Given the description of an element on the screen output the (x, y) to click on. 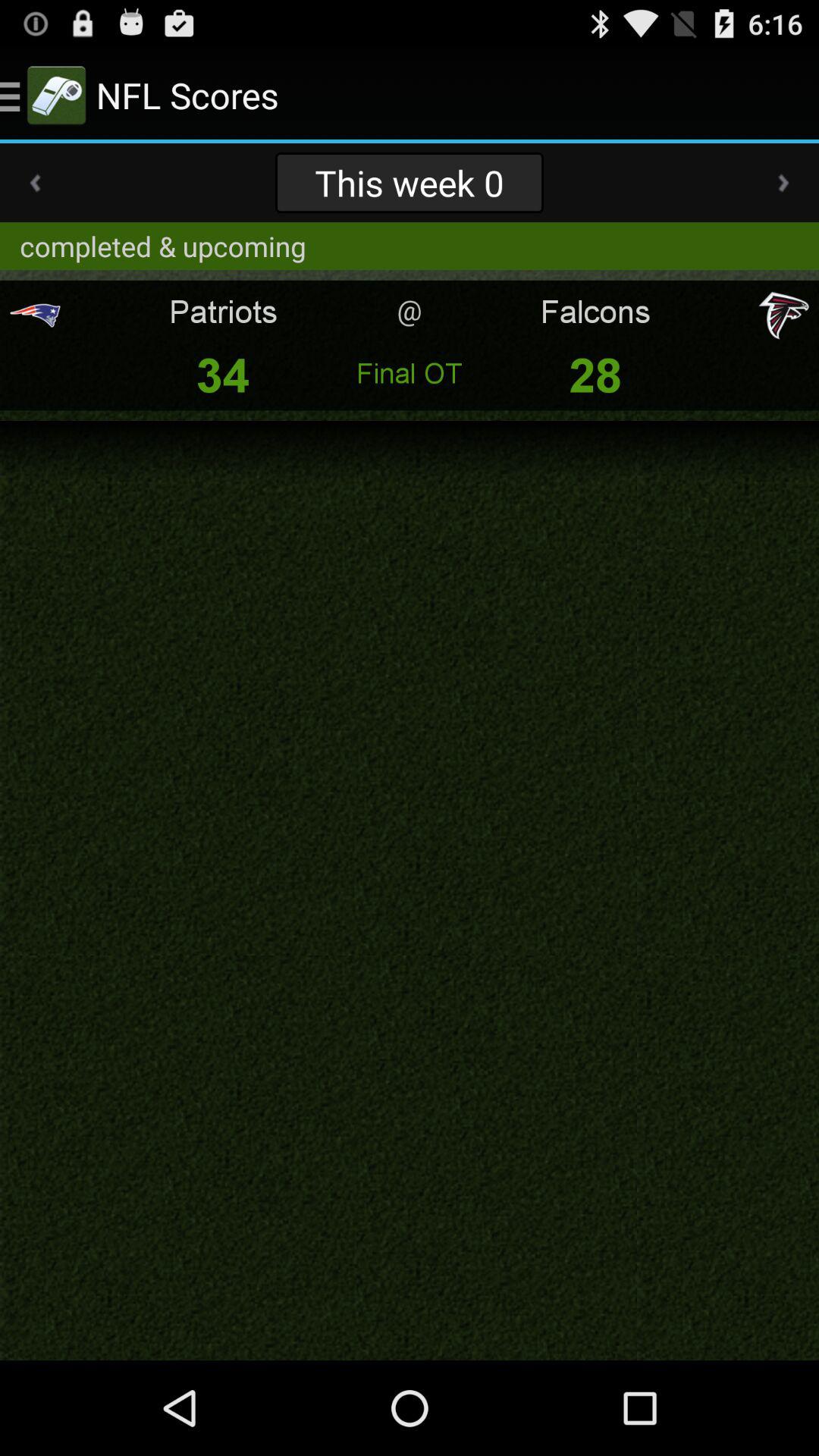
turn on this week 0 app (409, 182)
